Given the description of an element on the screen output the (x, y) to click on. 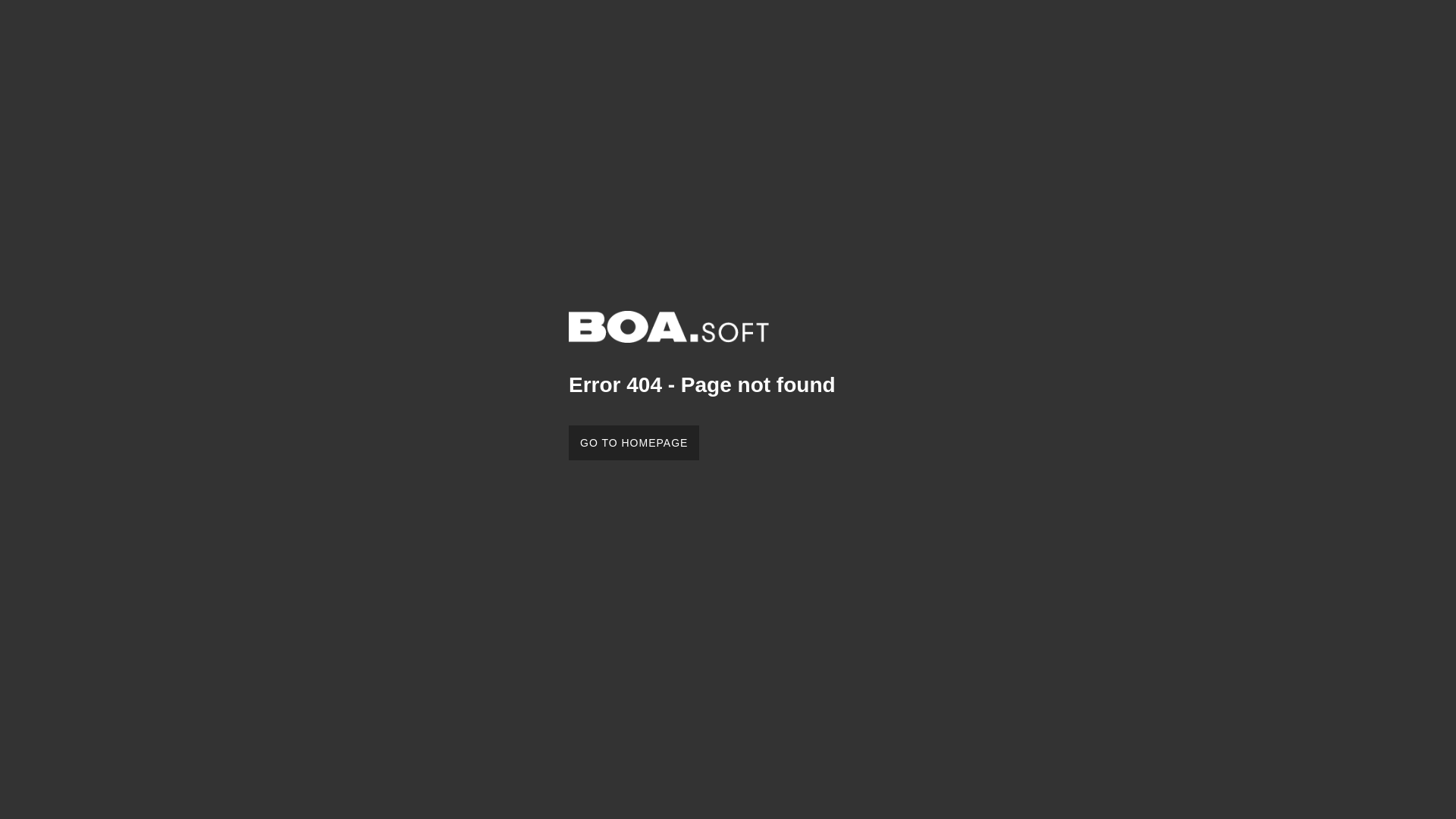
GO TO HOMEPAGE Element type: text (633, 442)
